Given the description of an element on the screen output the (x, y) to click on. 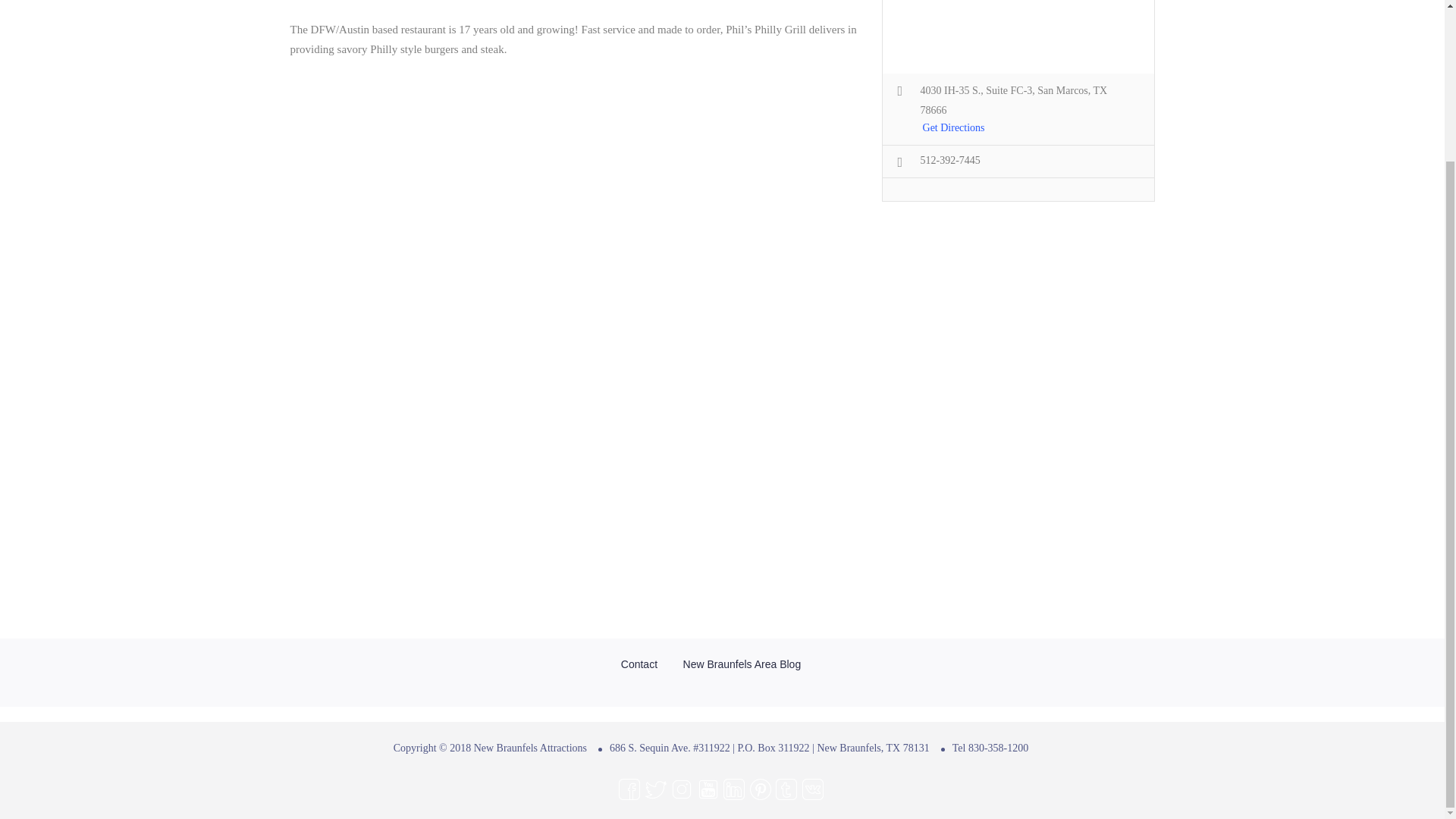
512-392-7445 (949, 161)
Contact (639, 664)
New Braunfels Area Blog (742, 664)
Get Directions (954, 128)
Claim your business now! (584, 377)
Advertisement (1018, 331)
Submit (413, 312)
